Given the description of an element on the screen output the (x, y) to click on. 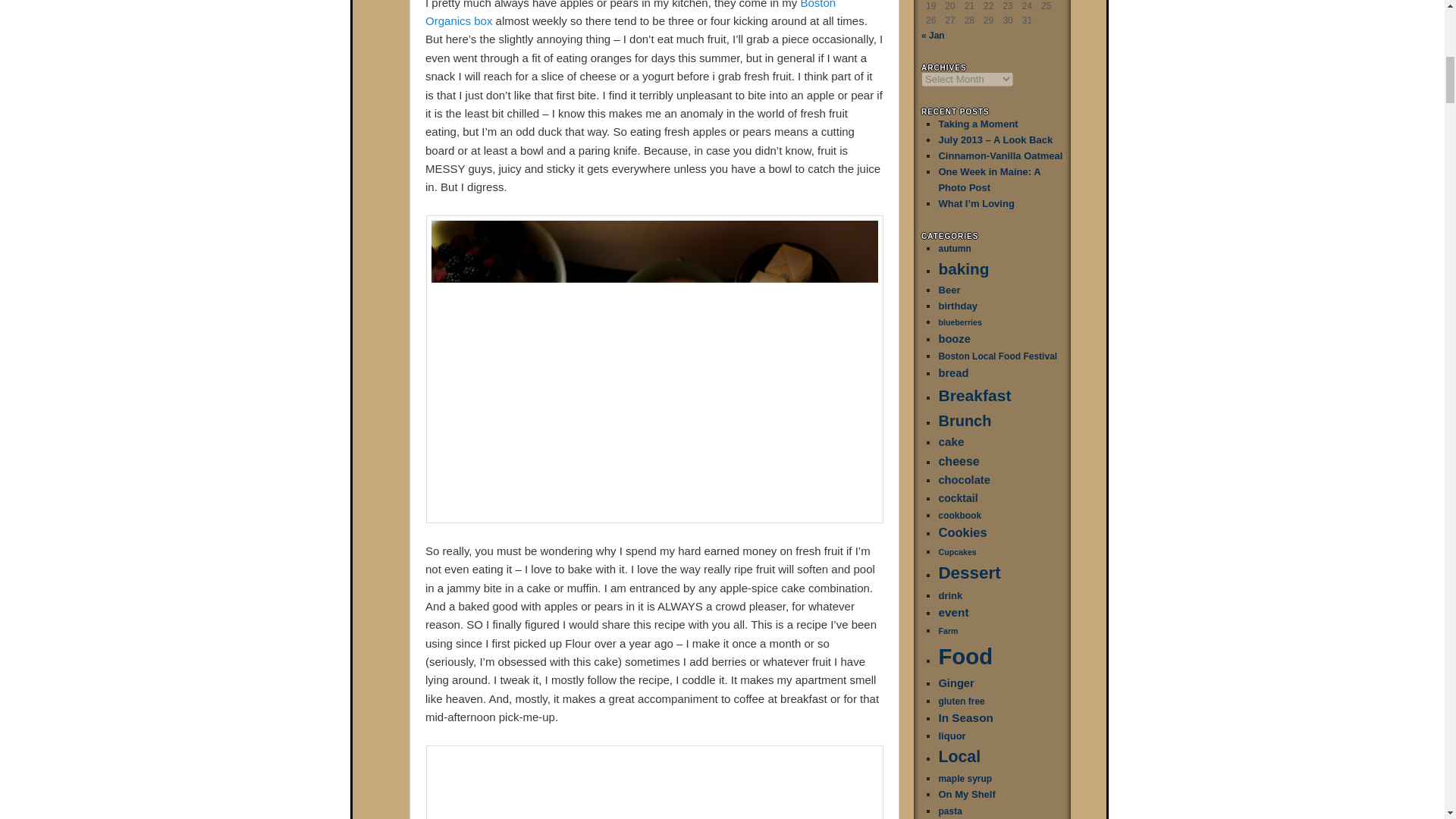
Boston Organics box (630, 13)
applepearcake-ovenready (654, 782)
